Given the description of an element on the screen output the (x, y) to click on. 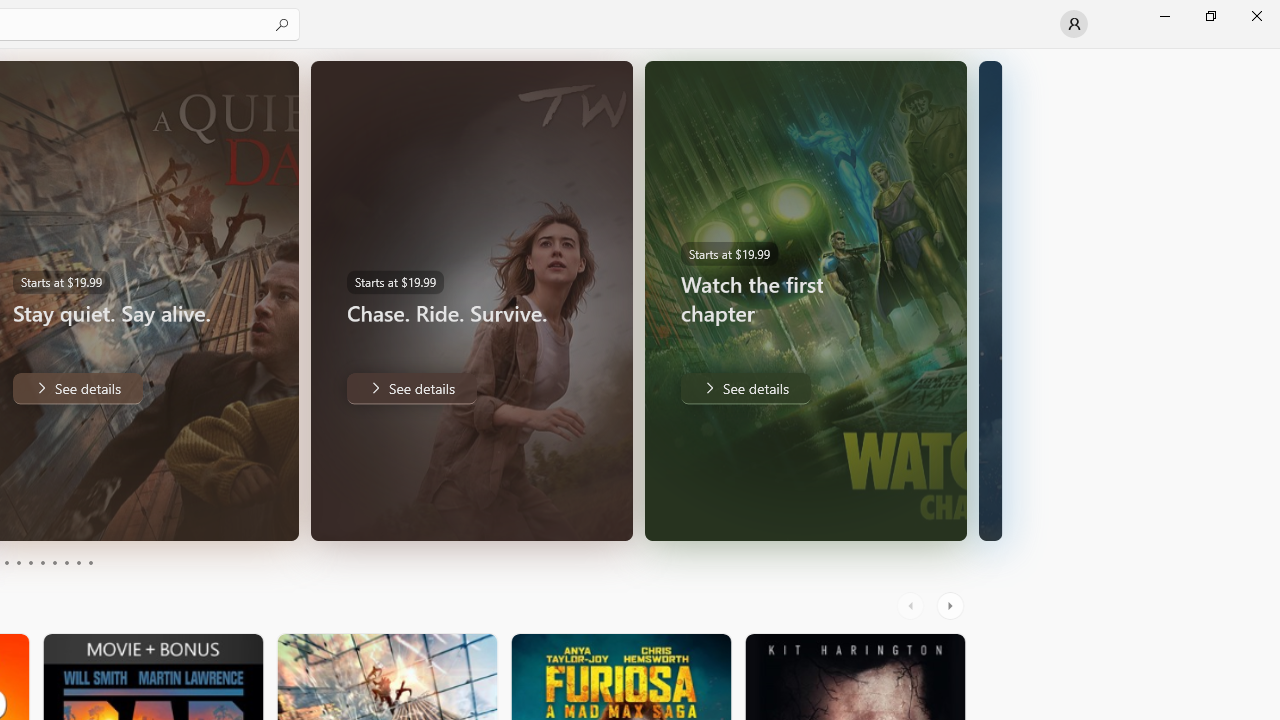
Page 4 (17, 562)
Page 5 (29, 562)
